Given the description of an element on the screen output the (x, y) to click on. 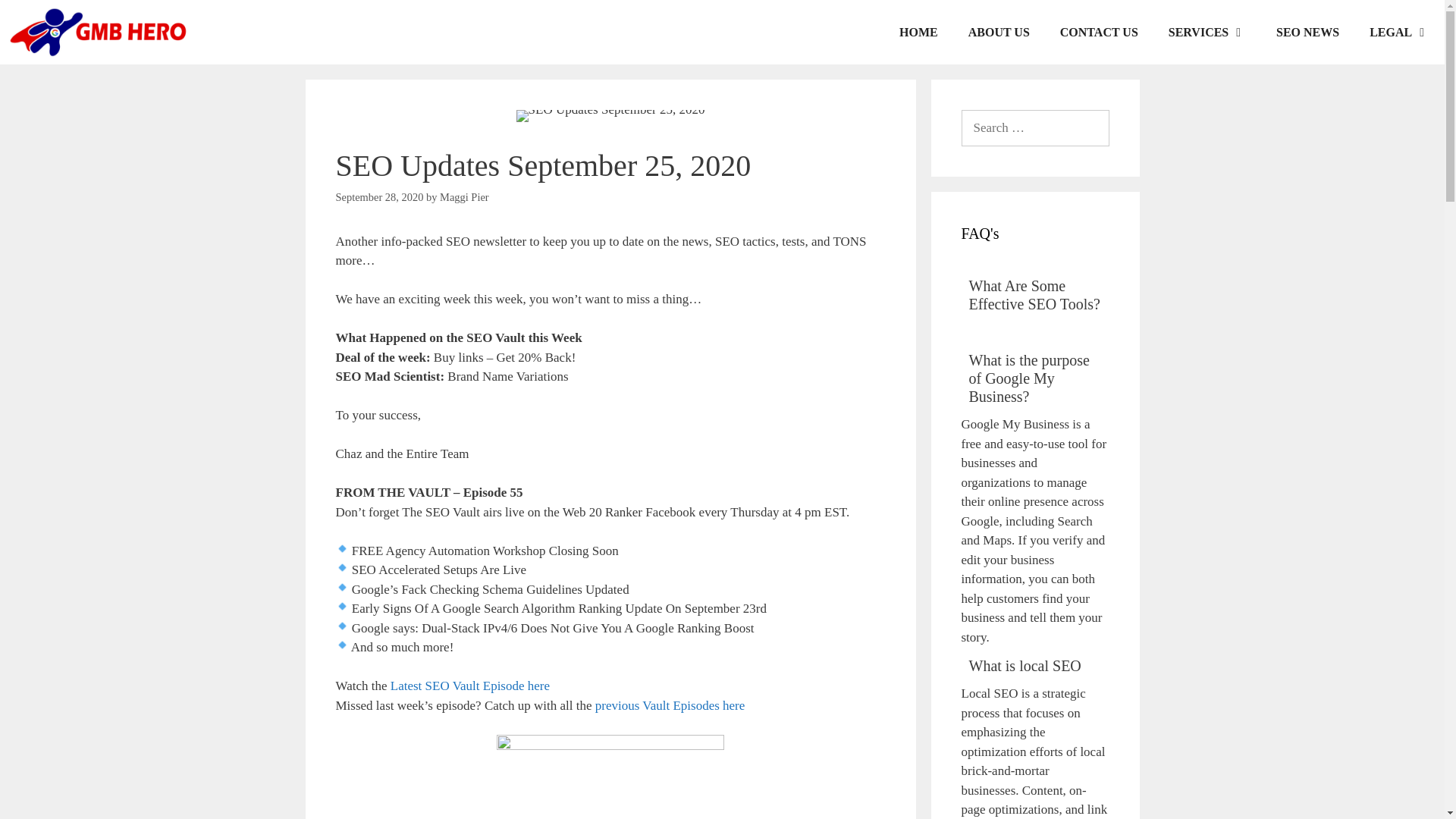
Search (33, 18)
SEO NEWS (1307, 32)
GMB Hero (101, 32)
GMB Hero (97, 32)
SEO Updates September 25, 2020 (610, 115)
ABOUT US (999, 32)
CONTACT US (1099, 32)
Latest SEO Vault Episode here (470, 685)
